Given the description of an element on the screen output the (x, y) to click on. 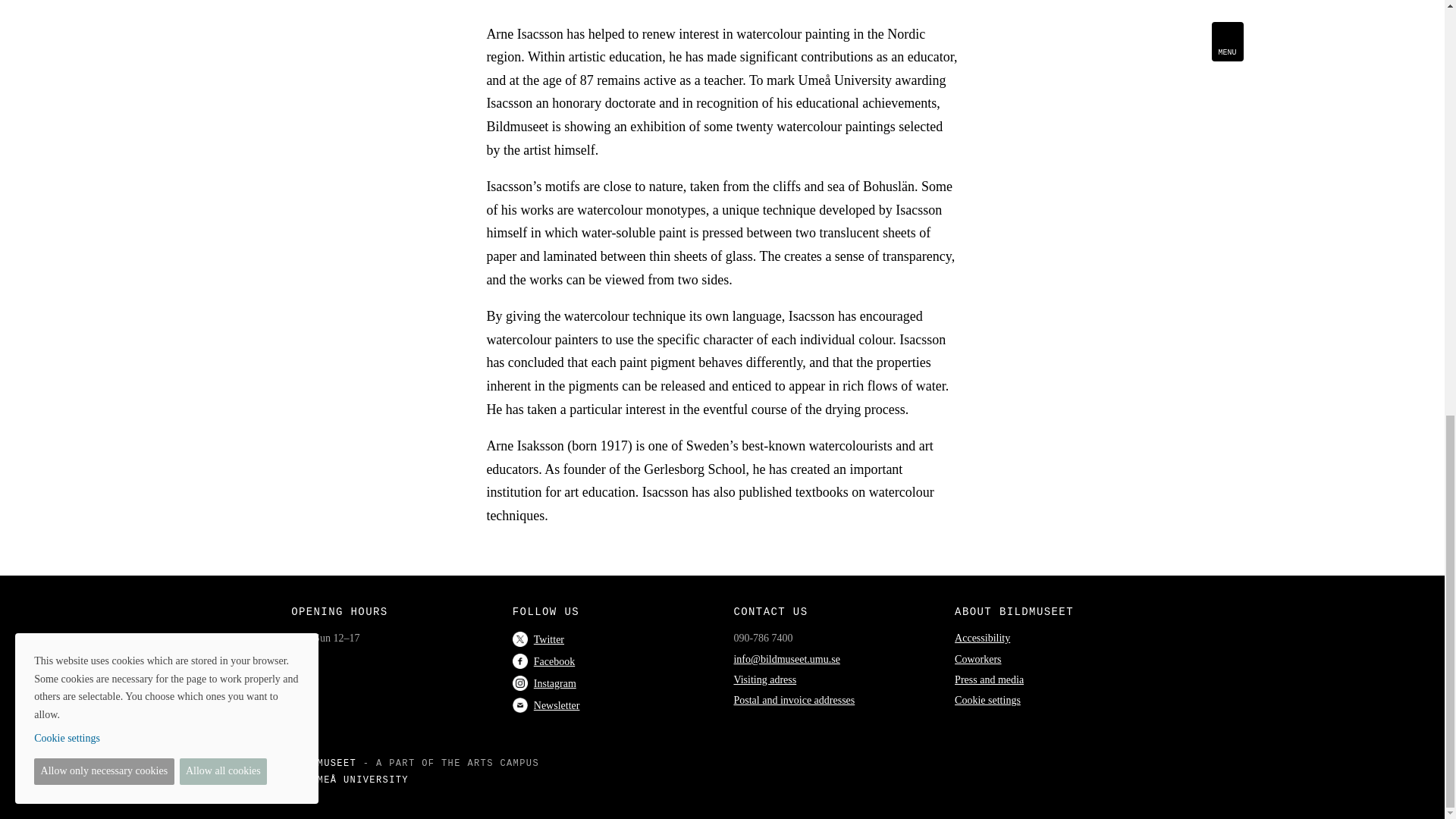
Visiting adress (764, 679)
Facebook (543, 661)
BILDMUSEET (323, 763)
Cookie settings (987, 699)
Instagram (544, 683)
Accessibility (982, 637)
Twitter (538, 639)
Postal and invoice addresses (793, 699)
Coworkers (978, 659)
Newsletter (545, 705)
Press and media (989, 679)
